Given the description of an element on the screen output the (x, y) to click on. 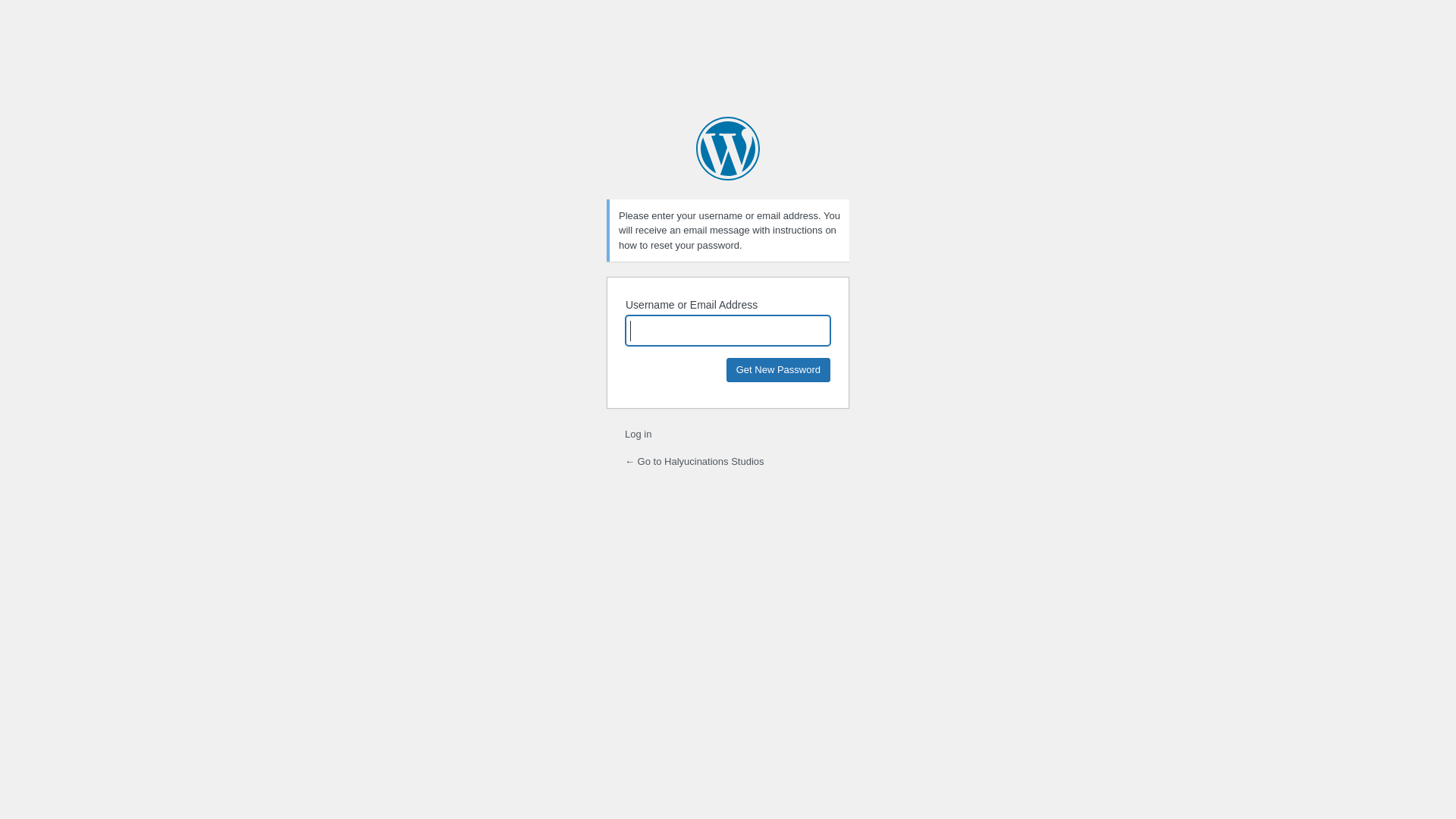
Get New Password Element type: text (778, 369)
Powered by WordPress Element type: text (727, 148)
Log in Element type: text (637, 433)
